Given the description of an element on the screen output the (x, y) to click on. 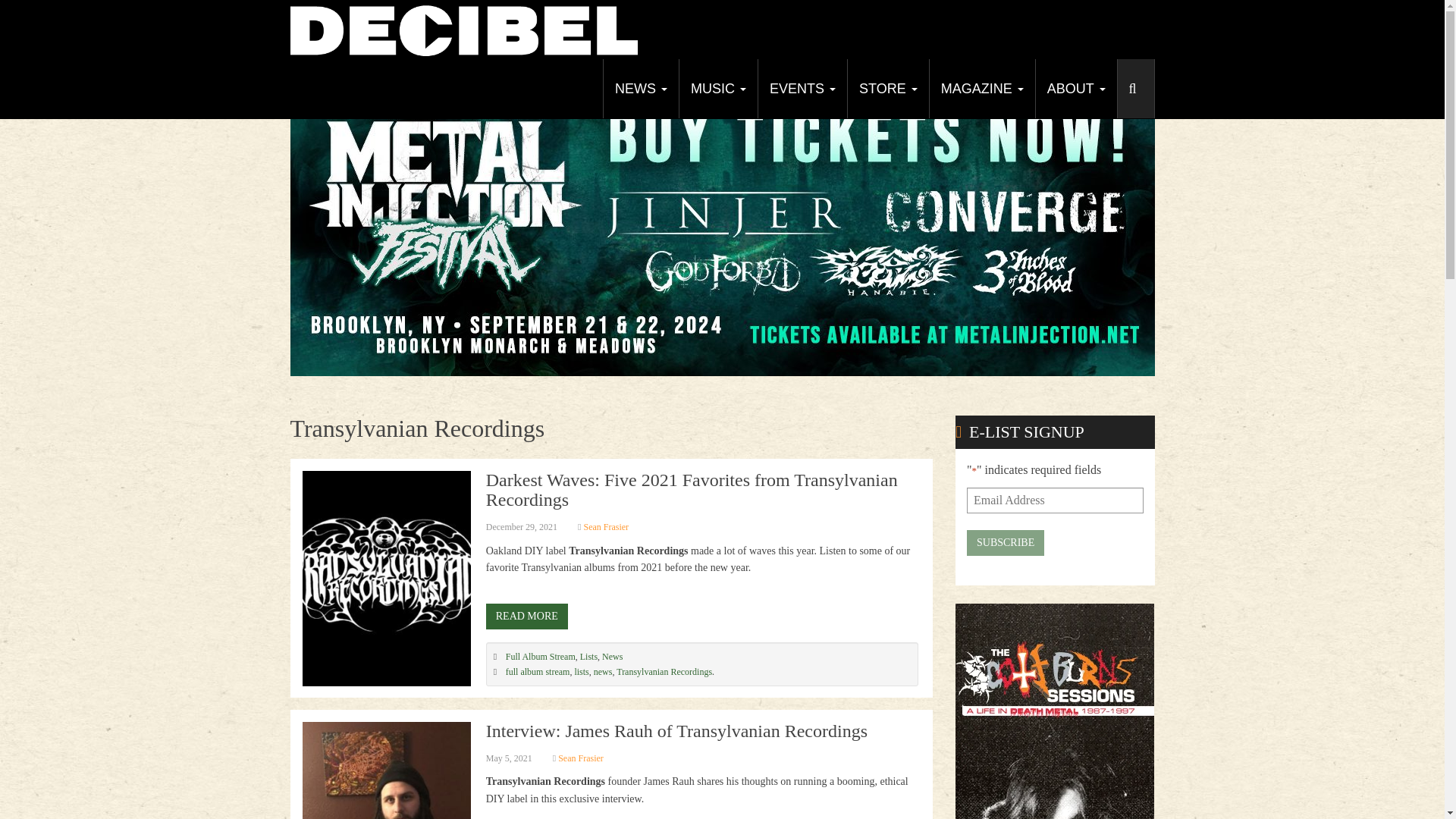
MAGAZINE (981, 87)
YouTube (1083, 73)
Soundcloud (1139, 73)
MUSIC (717, 87)
Facebook (1027, 73)
Instagram (1111, 73)
Twitter (1056, 73)
Decibel Magazine (463, 28)
Music (717, 87)
Events (802, 87)
